Given the description of an element on the screen output the (x, y) to click on. 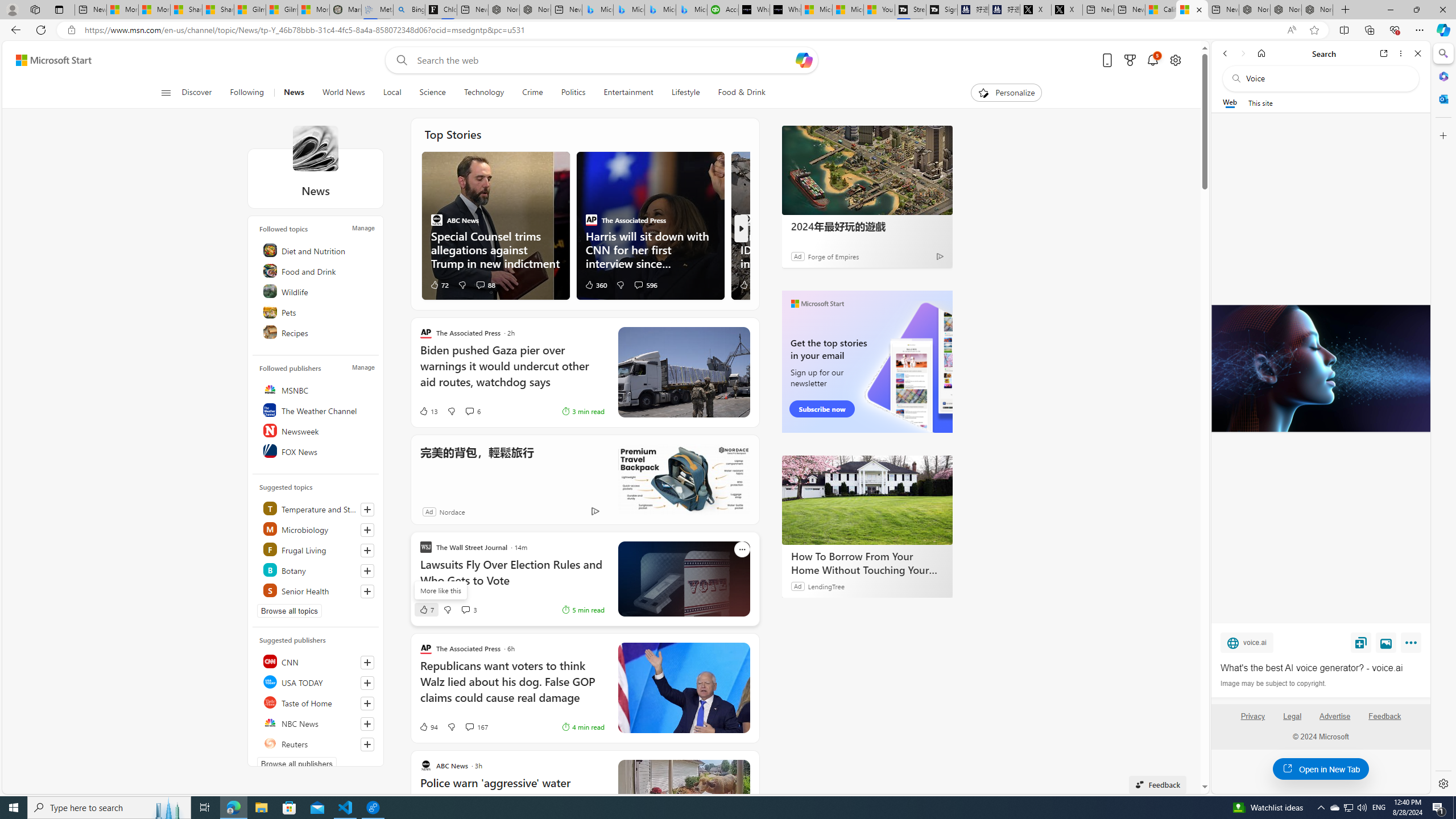
Science (432, 92)
Food & Drink (737, 92)
Diet and Nutrition (317, 249)
News (293, 92)
570 Like (749, 284)
USA TODAY (317, 682)
View comments 88 Comment (480, 284)
